Given the description of an element on the screen output the (x, y) to click on. 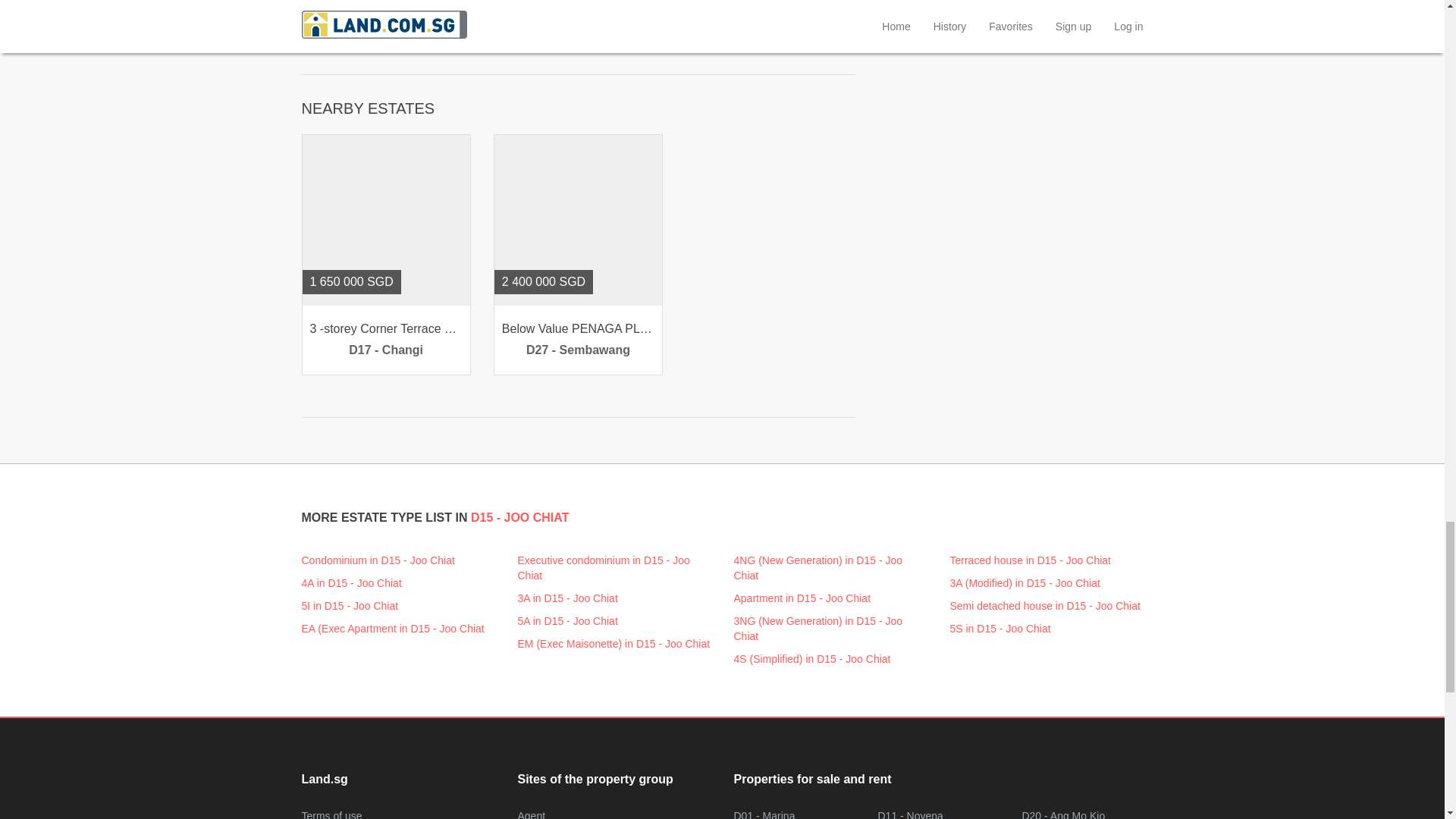
Favorite (514, 155)
3 -storey Corner Terrace with balcony (384, 340)
Favorite (322, 155)
